Given the description of an element on the screen output the (x, y) to click on. 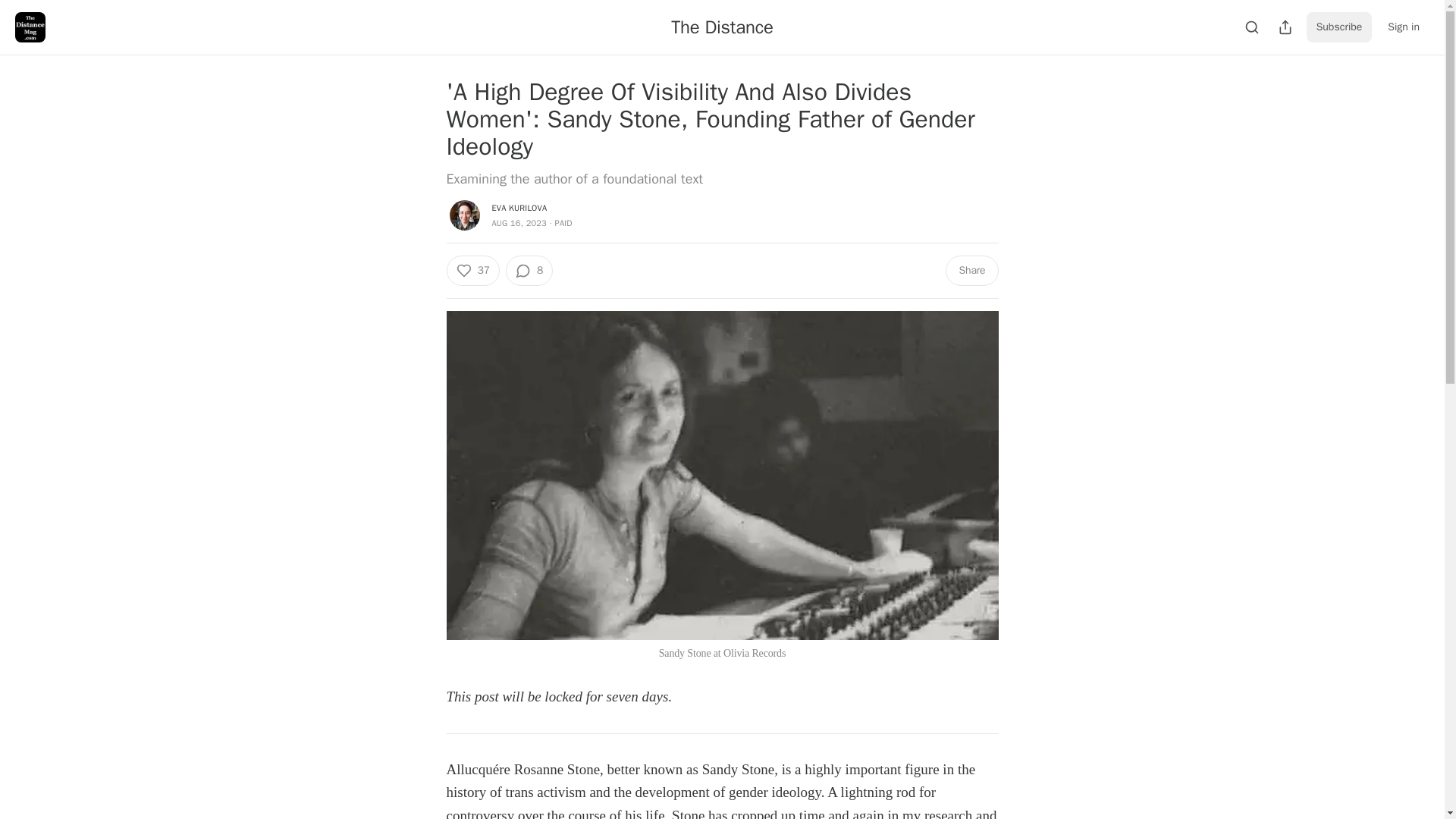
37 (472, 270)
Share (970, 270)
8 (529, 270)
Subscribe (1339, 27)
The Distance (722, 26)
EVA KURILOVA (519, 207)
Sign in (1403, 27)
